Given the description of an element on the screen output the (x, y) to click on. 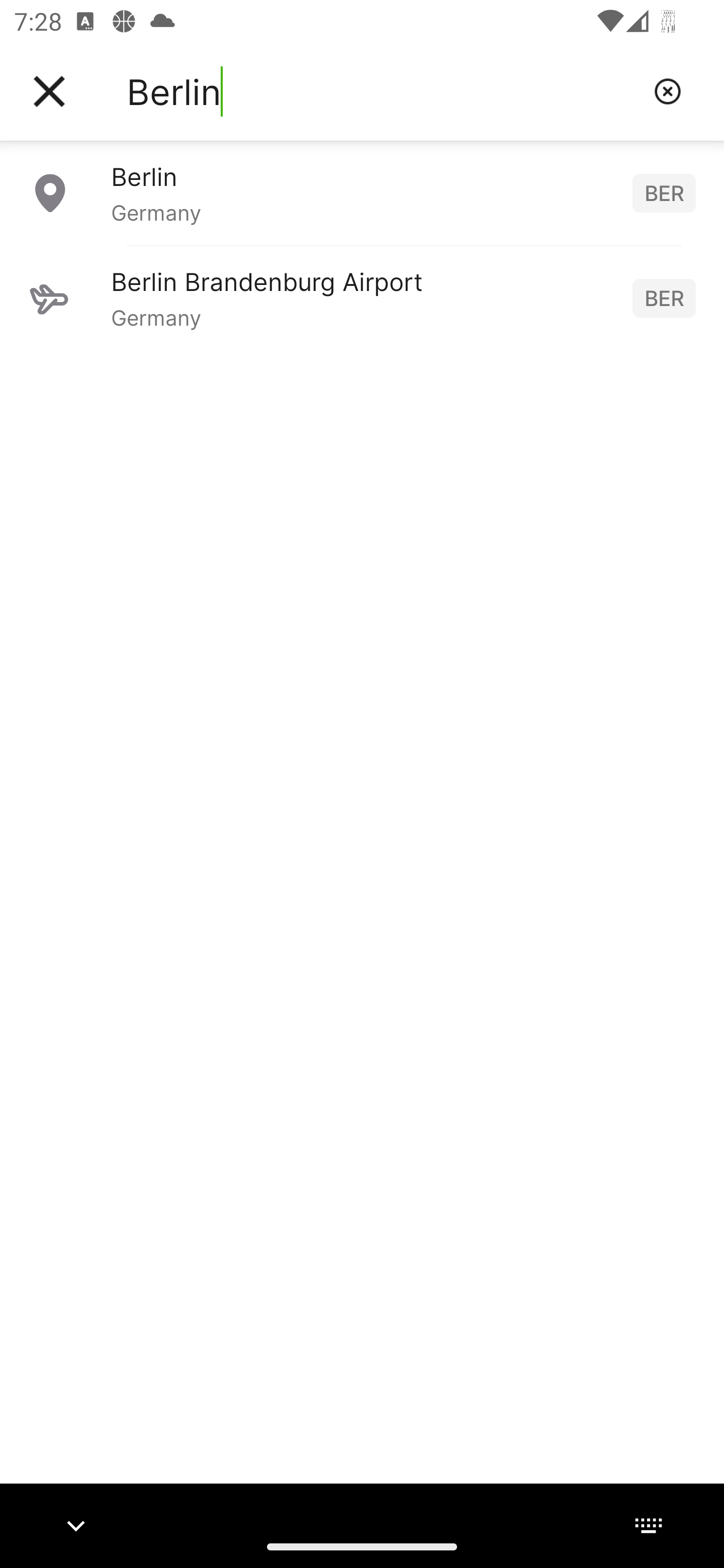
Berlin (382, 91)
Berlin Germany BER (362, 192)
Berlin Brandenburg Airport Germany BER (362, 297)
